Given the description of an element on the screen output the (x, y) to click on. 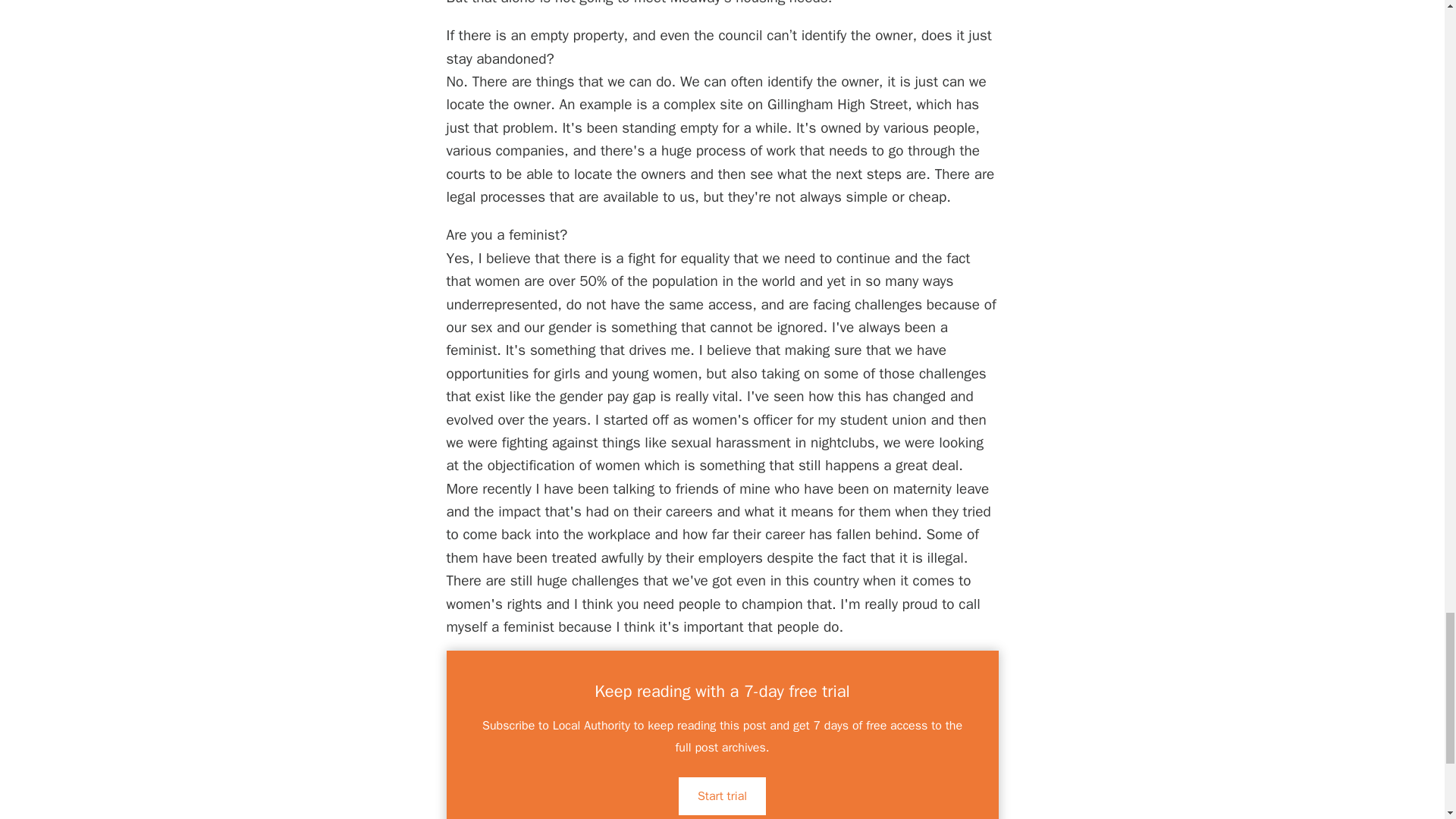
Start trial (721, 795)
Start trial (721, 795)
